Given the description of an element on the screen output the (x, y) to click on. 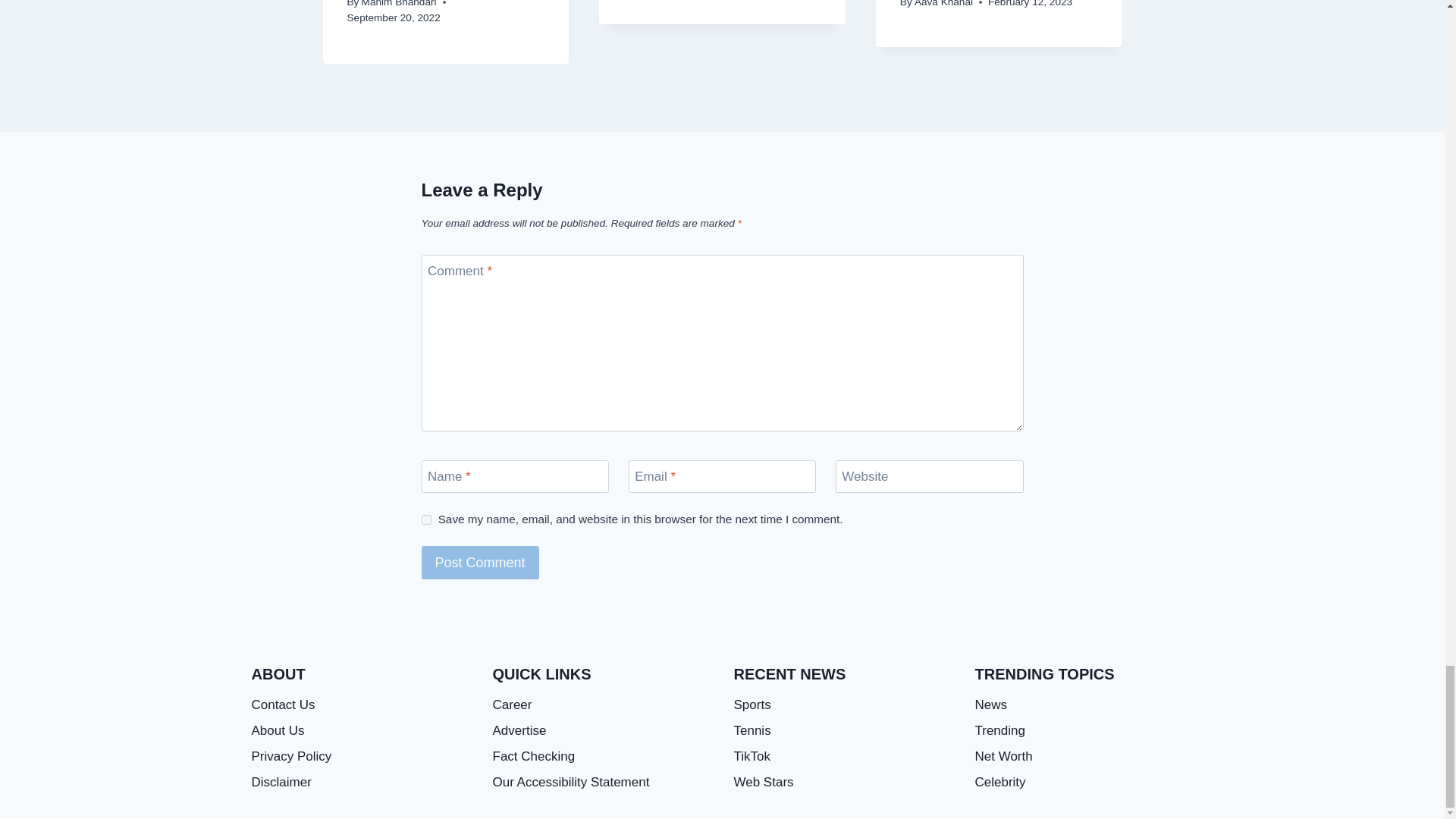
yes (426, 519)
Post Comment (480, 562)
